Given the description of an element on the screen output the (x, y) to click on. 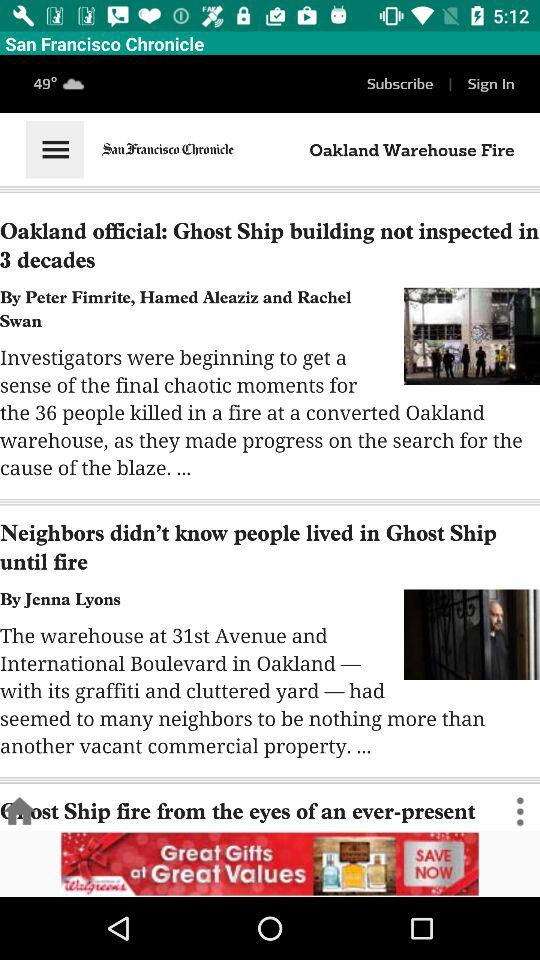
read text (270, 443)
